Given the description of an element on the screen output the (x, y) to click on. 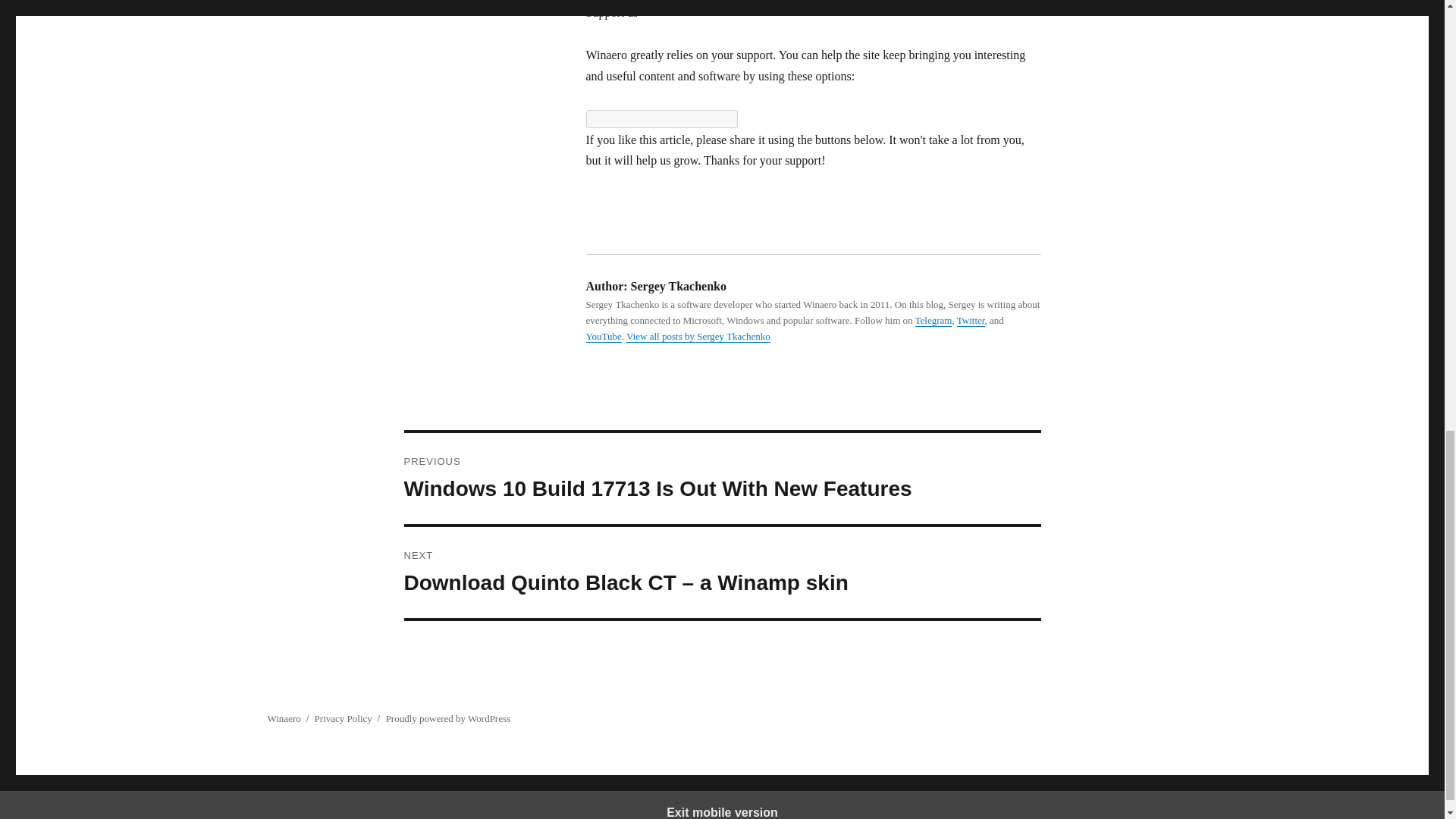
Winaero (282, 717)
Proudly powered by WordPress (448, 717)
Telegram (933, 319)
View all posts by Sergey Tkachenko (698, 336)
Twitter (970, 319)
YouTube (603, 336)
Privacy Policy (343, 717)
